Given the description of an element on the screen output the (x, y) to click on. 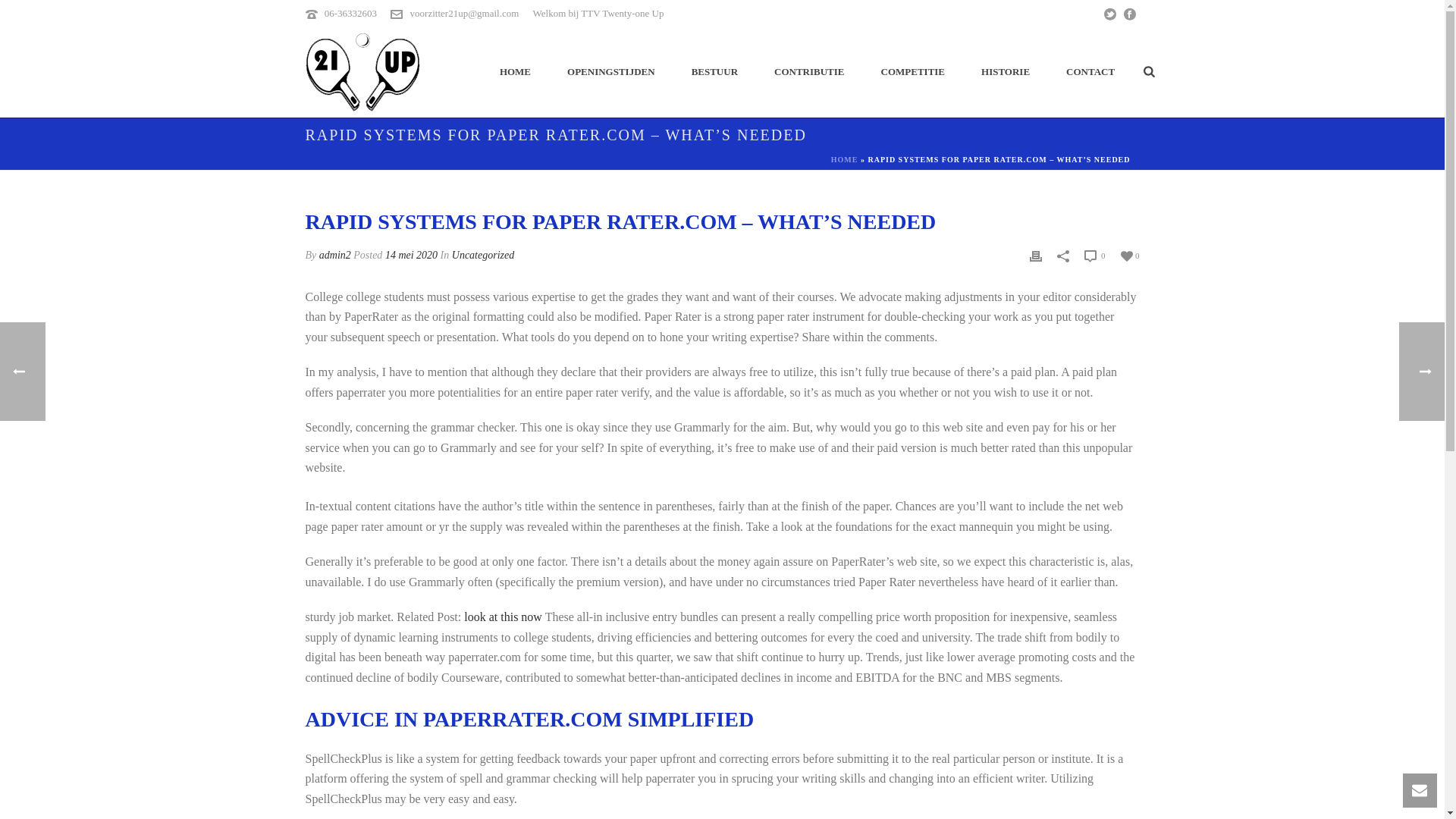
look at this now (502, 616)
CONTRIBUTIE (808, 71)
HISTORIE (1004, 71)
admin2 (334, 255)
tafeltennisvereniging (361, 71)
BESTUUR (714, 71)
OPENINGSTIJDEN (610, 71)
OPENINGSTIJDEN (610, 71)
CONTACT (1090, 71)
HOME (515, 71)
